Given the description of an element on the screen output the (x, y) to click on. 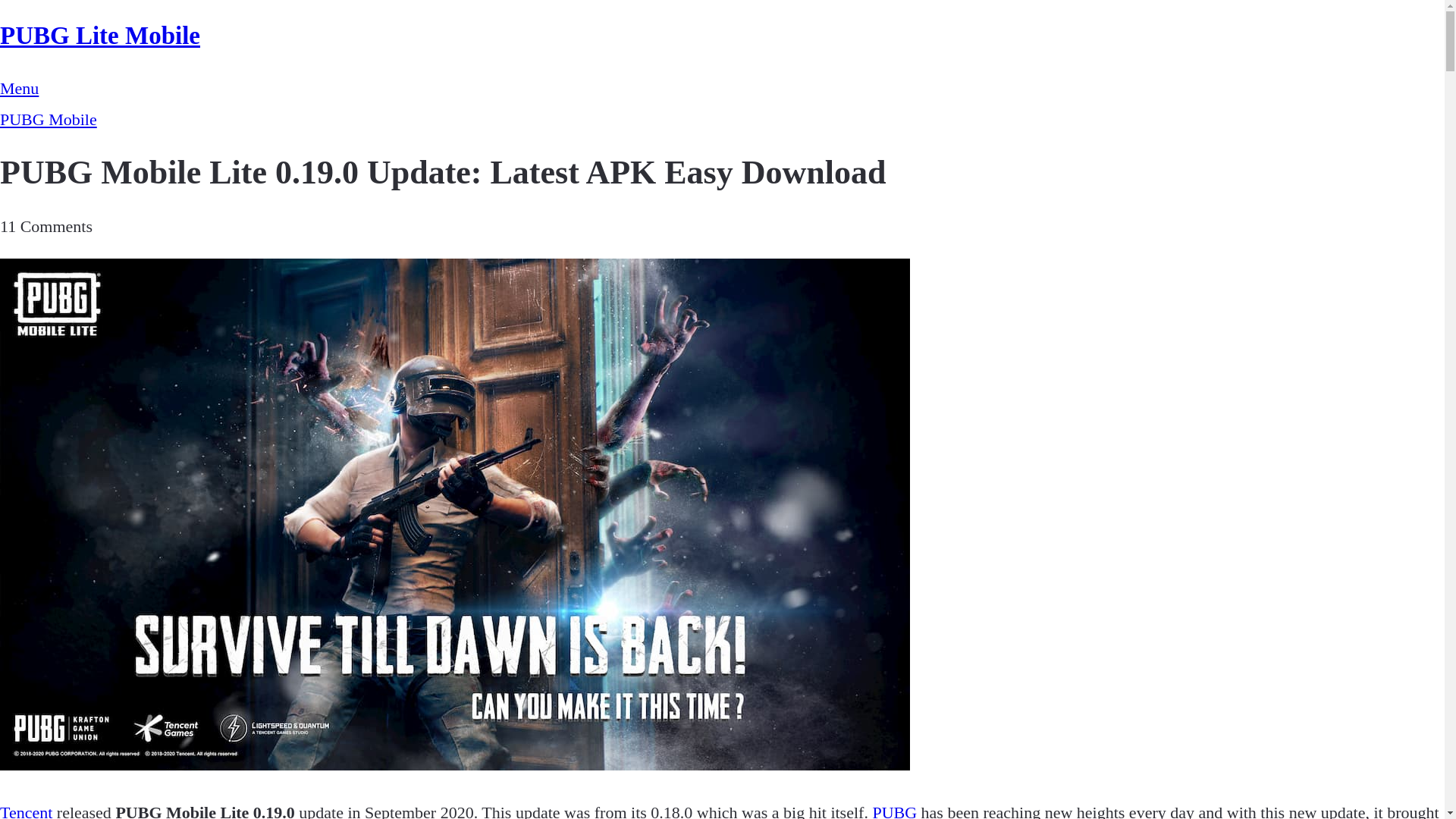
PUBG Lite Mobile (100, 35)
PUBG Mobile (48, 118)
Menu (19, 87)
PUBG (894, 811)
Tencent (26, 811)
View all posts in PUBG Mobile (48, 118)
